Given the description of an element on the screen output the (x, y) to click on. 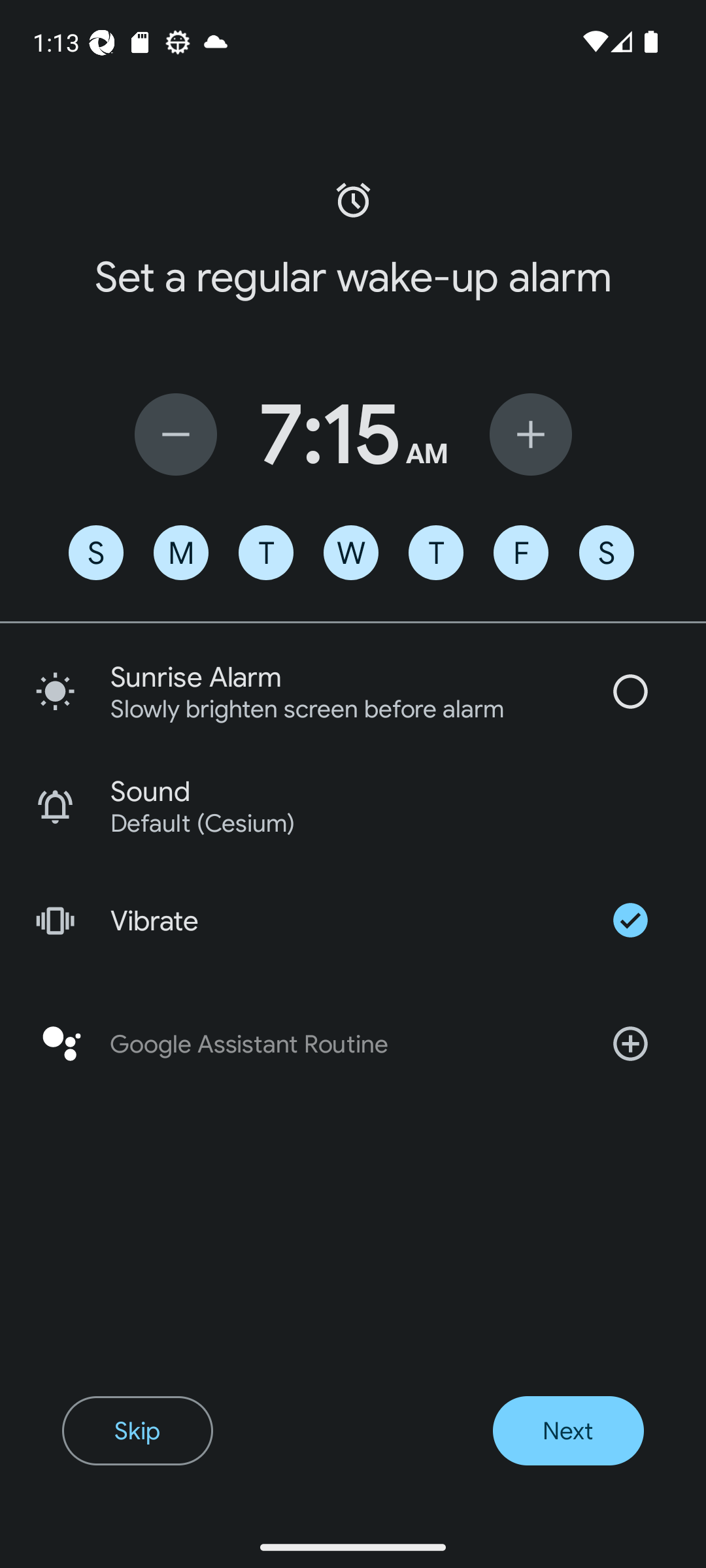
7:15 AM Wake-up 7:15 AM (353, 434)
Fifteen minutes earlier (175, 434)
Fifteen minutes later (530, 434)
S Sunday (95, 552)
M Monday (180, 552)
T Tuesday (266, 552)
W Wednesday (350, 552)
T Thursday (435, 552)
F Friday (520, 552)
S Saturday (606, 552)
Sunrise Alarm Slowly brighten screen before alarm (353, 691)
Sound Default (Cesium) Ringtone Default (Cesium) (353, 805)
Vibrate (353, 920)
Google Assistant Routine (353, 1044)
Skip (137, 1430)
Next (567, 1430)
